Given the description of an element on the screen output the (x, y) to click on. 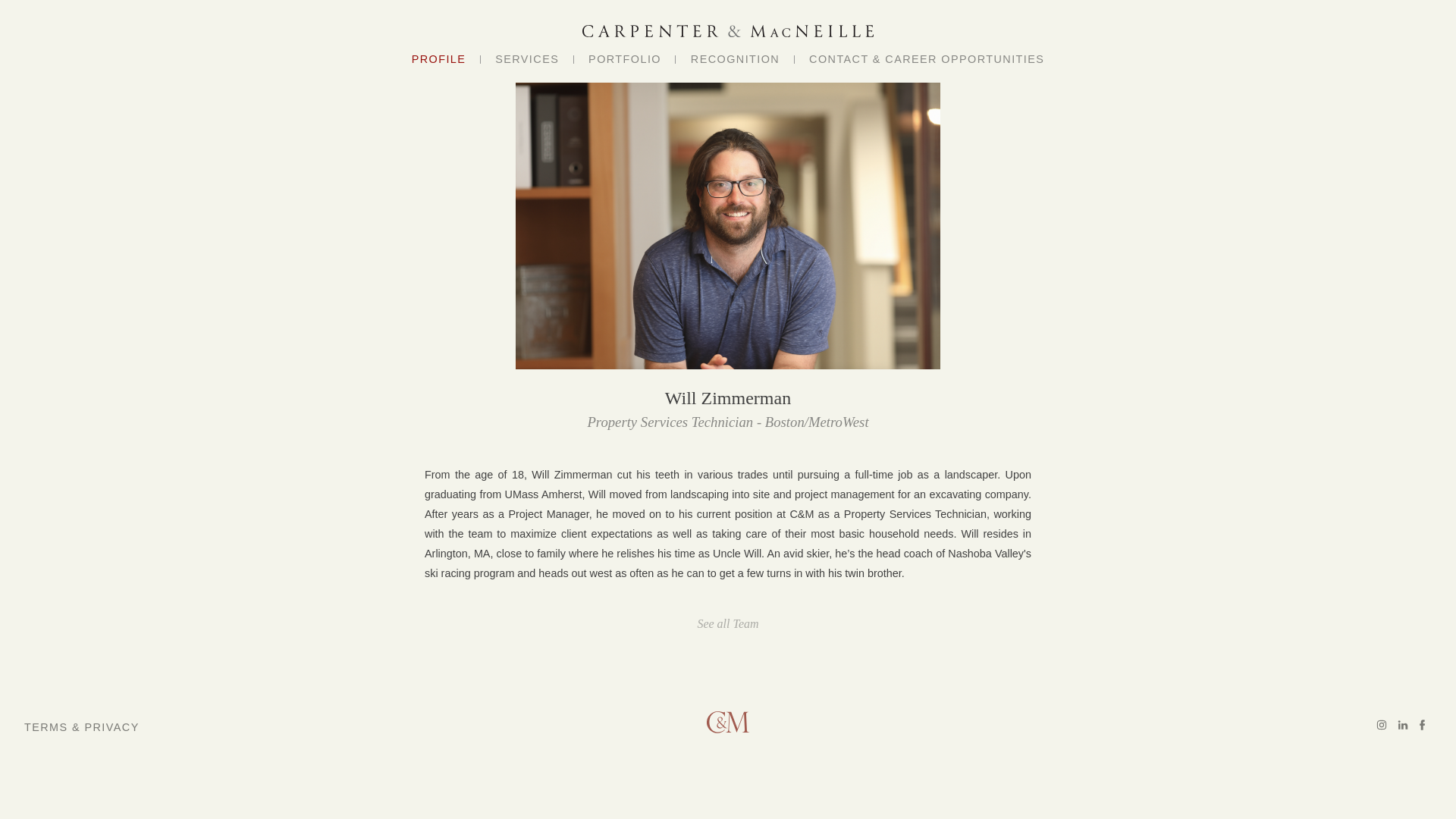
INSTAGRAM (1381, 724)
RECOGNITION (734, 59)
LINKEDIN (1402, 724)
FACEBOOK (1420, 724)
See all Team (727, 623)
See all Team (727, 622)
PORTFOLIO (625, 59)
PROFILE (438, 59)
SERVICES (526, 59)
